Given the description of an element on the screen output the (x, y) to click on. 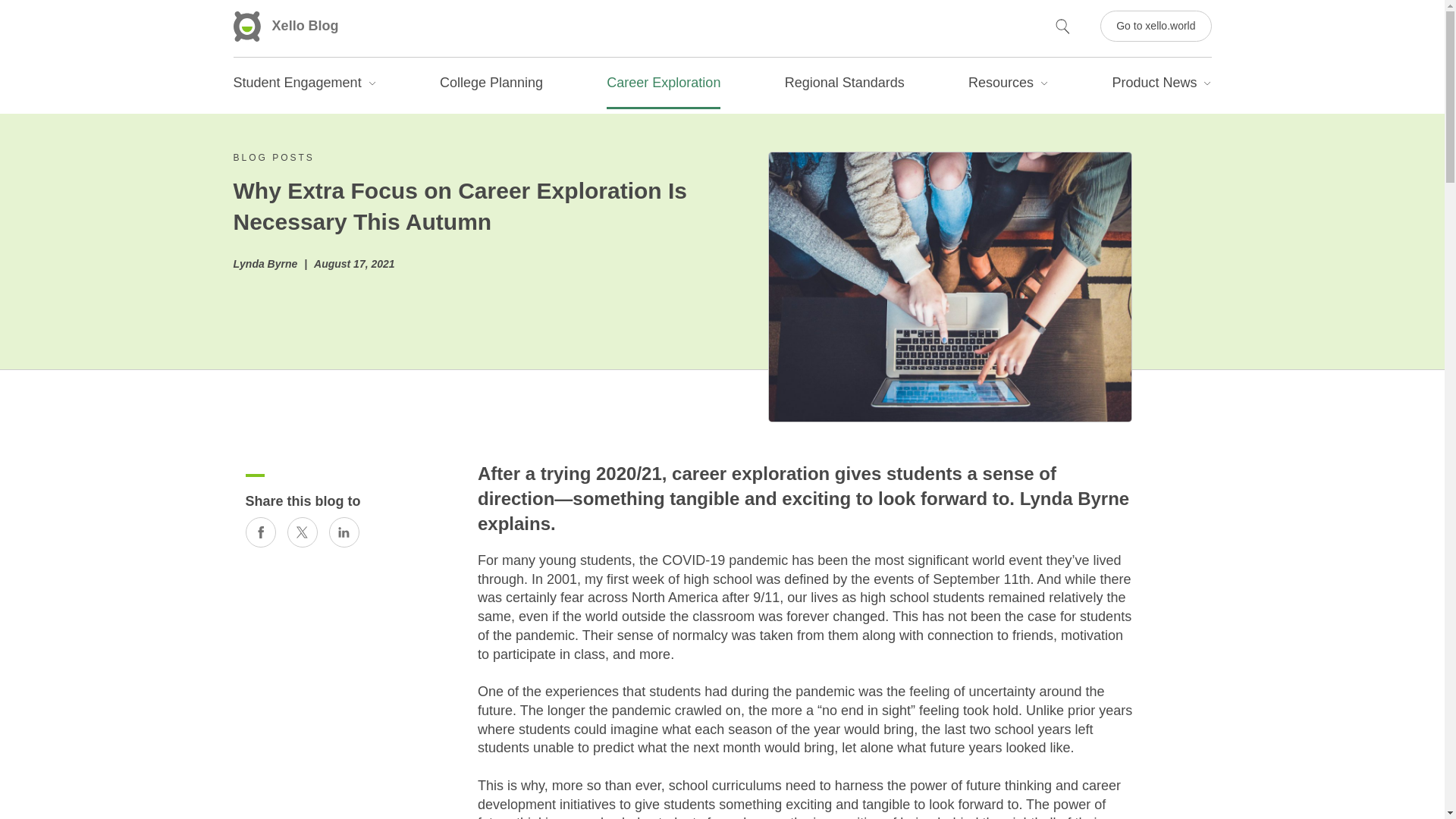
Regional Standards (844, 86)
Career Exploration (663, 86)
College Planning (491, 86)
Search (21, 9)
Student Engagement (303, 86)
Xello Blog (285, 26)
Go to xello.world (1155, 25)
Product News (1161, 86)
Resources (1008, 86)
